Given the description of an element on the screen output the (x, y) to click on. 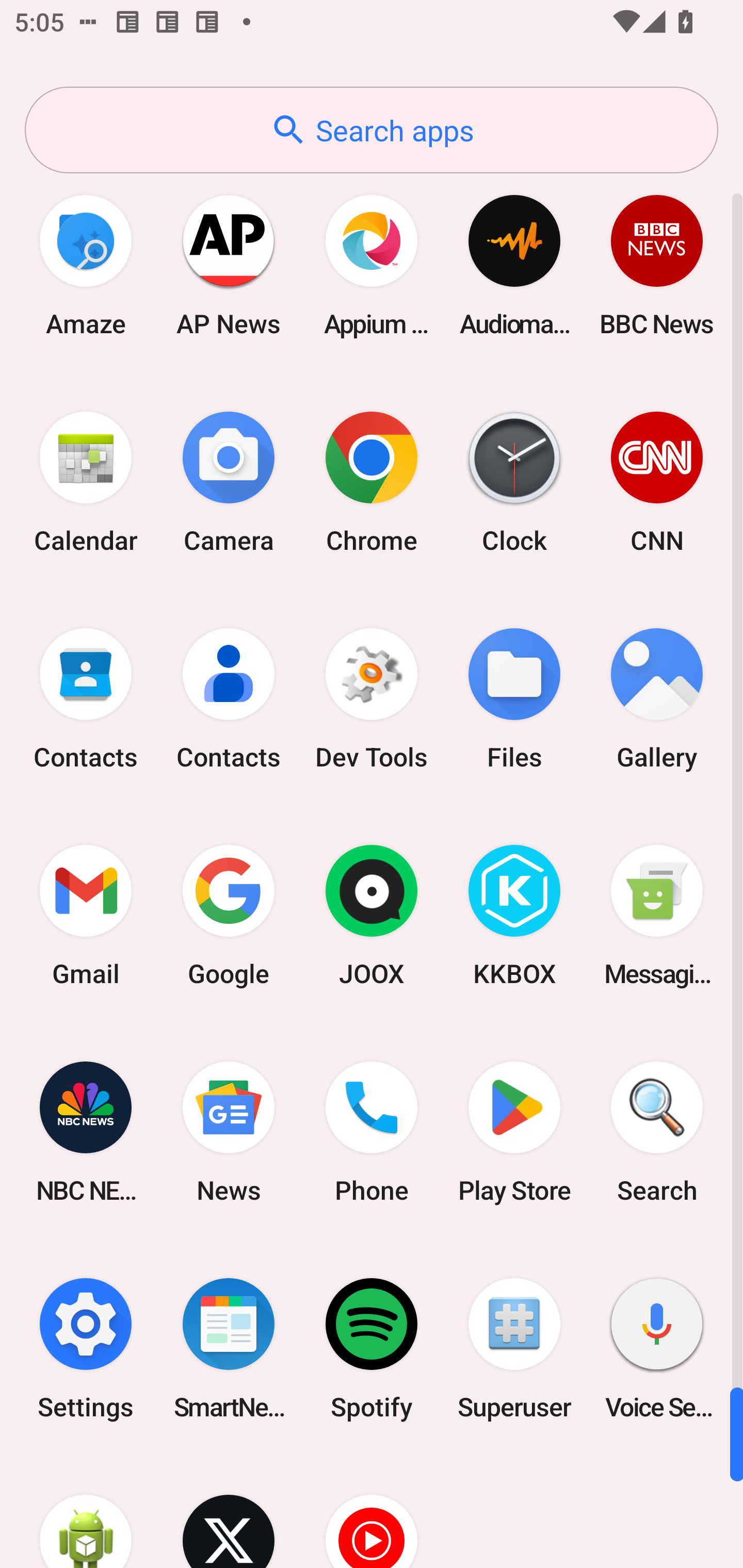
  Search apps (371, 130)
Amaze (85, 264)
AP News (228, 264)
Appium Settings (371, 264)
Audio­mack (514, 264)
BBC News (656, 264)
Calendar (85, 482)
Camera (228, 482)
Chrome (371, 482)
Clock (514, 482)
CNN (656, 482)
Contacts (85, 699)
Contacts (228, 699)
Dev Tools (371, 699)
Files (514, 699)
Gallery (656, 699)
Gmail (85, 915)
Google (228, 915)
JOOX (371, 915)
KKBOX (514, 915)
Messaging (656, 915)
NBC NEWS (85, 1131)
News (228, 1131)
Phone (371, 1131)
Play Store (514, 1131)
Search (656, 1131)
Settings (85, 1348)
SmartNews (228, 1348)
Spotify (371, 1348)
Superuser (514, 1348)
Voice Search (656, 1348)
WebView Browser Tester (85, 1512)
X (228, 1512)
YT Music (371, 1512)
